Given the description of an element on the screen output the (x, y) to click on. 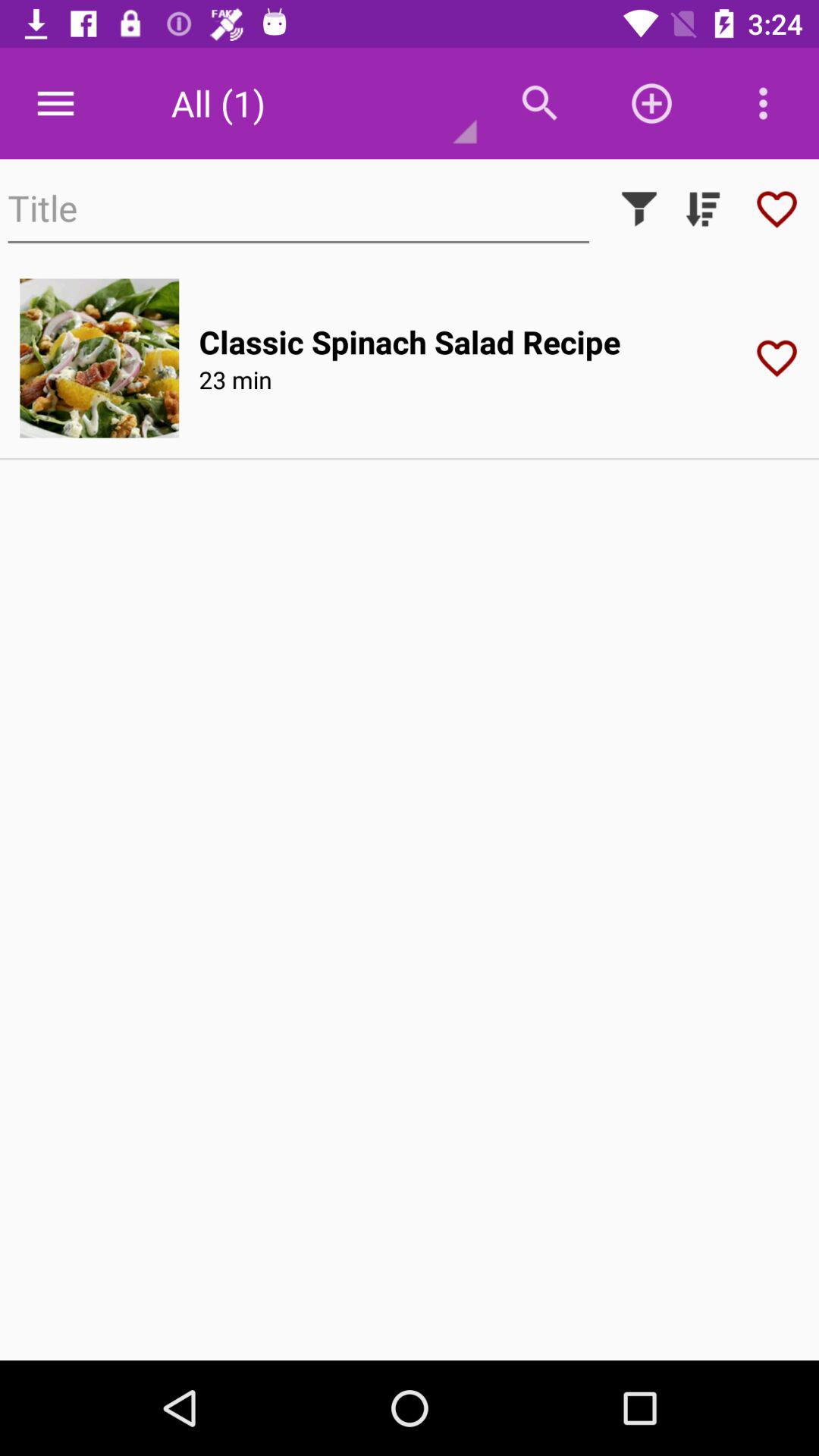
turn on the icon below the classic spinach salad item (235, 379)
